Given the description of an element on the screen output the (x, y) to click on. 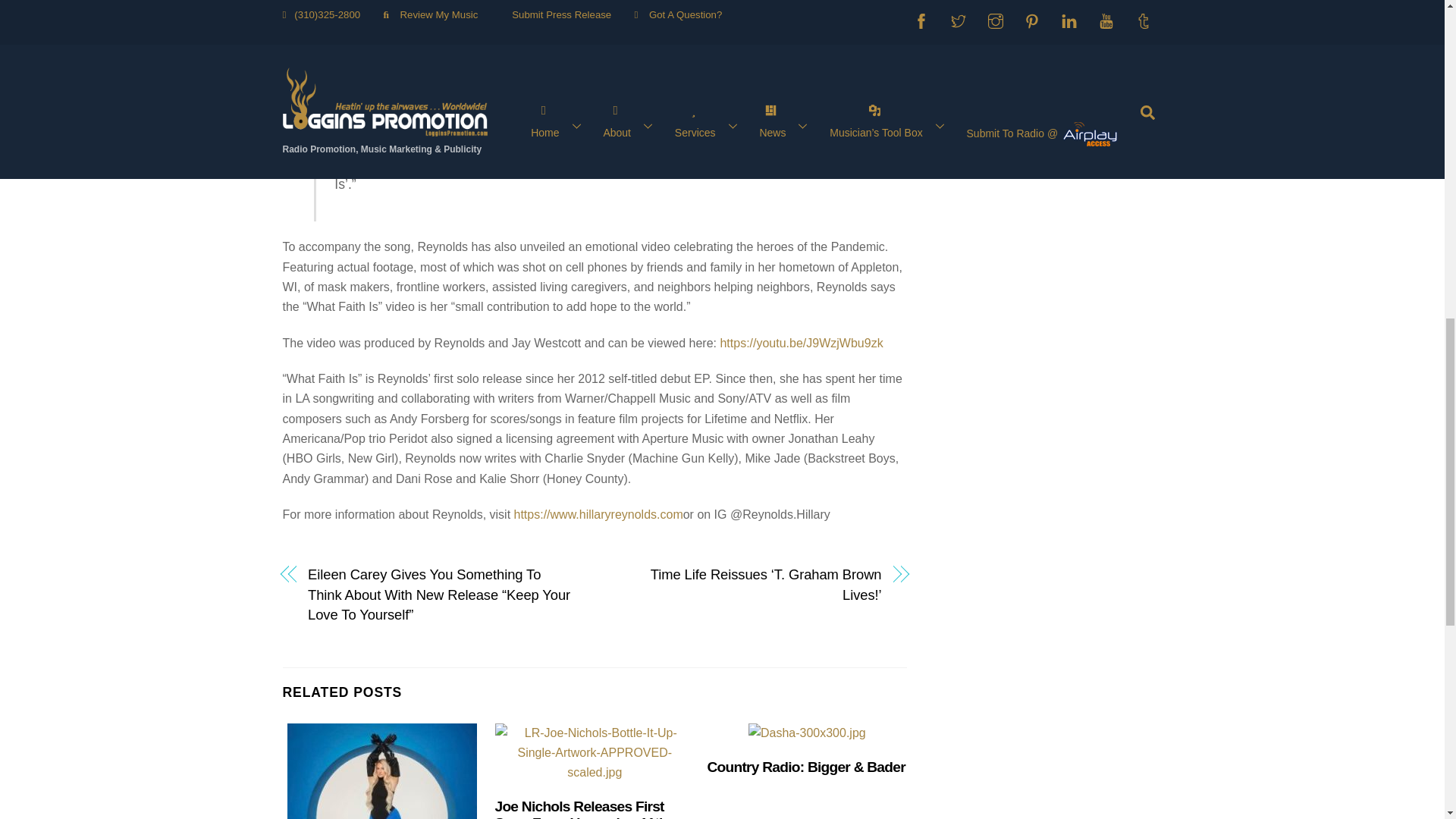
Dasha-300x300.jpg (807, 732)
Meghan-Trainor-300x300.jpg (381, 771)
